Given the description of an element on the screen output the (x, y) to click on. 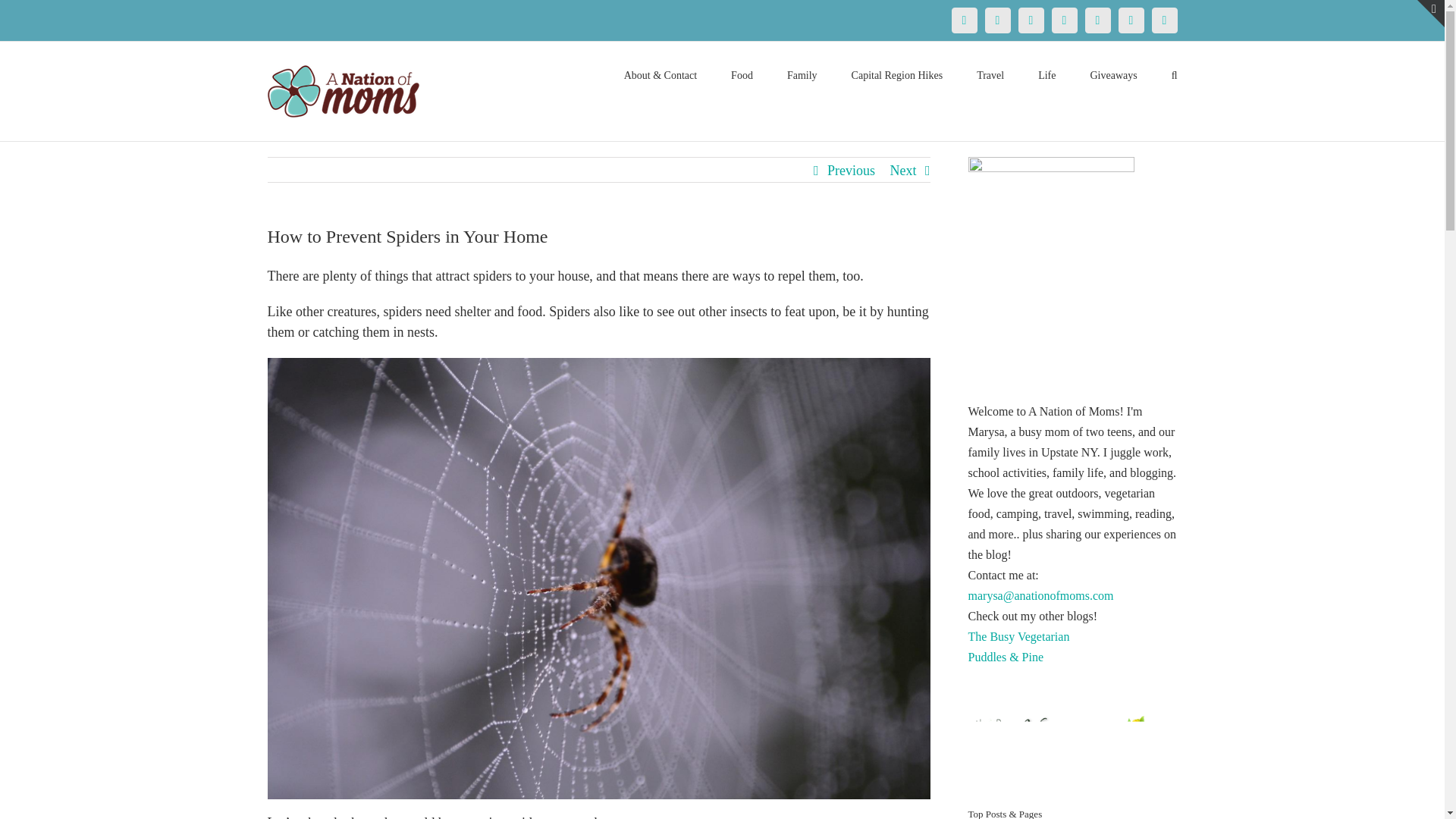
Twitter (997, 20)
Instagram (1064, 20)
Facebook (963, 20)
YouTube (1096, 20)
Facebook (963, 20)
Pinterest (1030, 20)
Email (1163, 20)
Pinterest (1030, 20)
Twitter (997, 20)
Capital Region Hikes (897, 74)
Email (1163, 20)
Instagram (1064, 20)
YouTube (1096, 20)
